Given the description of an element on the screen output the (x, y) to click on. 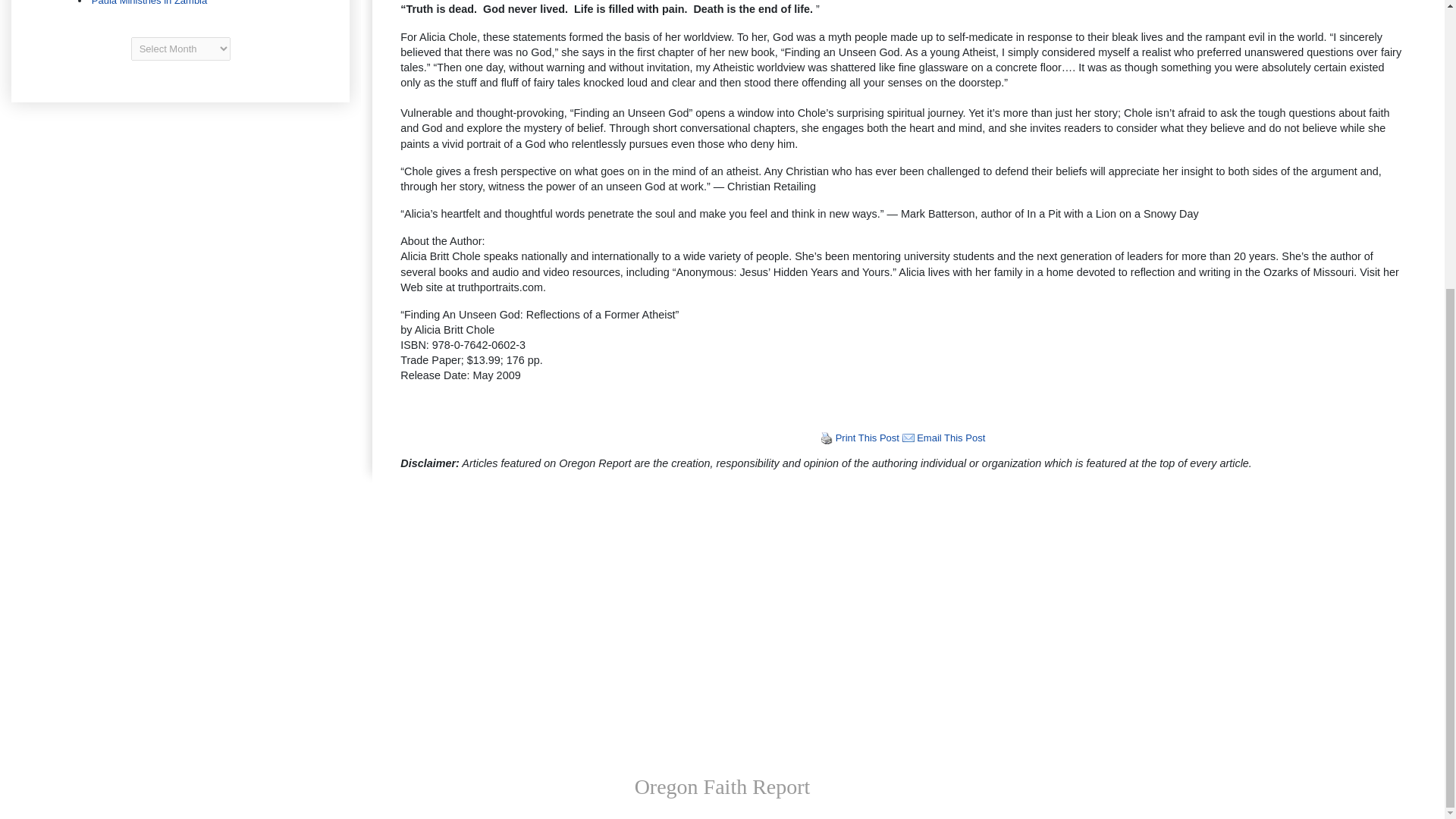
Oregon Faith Report (722, 786)
Paula Ministries in Zambia (148, 2)
Oregon (181, 2)
Print This Post (826, 438)
Email This Post (951, 437)
Email This Post (908, 437)
Print This Post (867, 437)
Print This Post (826, 437)
Print This Post (867, 437)
Paula Ministries in Zambia (148, 2)
